Given the description of an element on the screen output the (x, y) to click on. 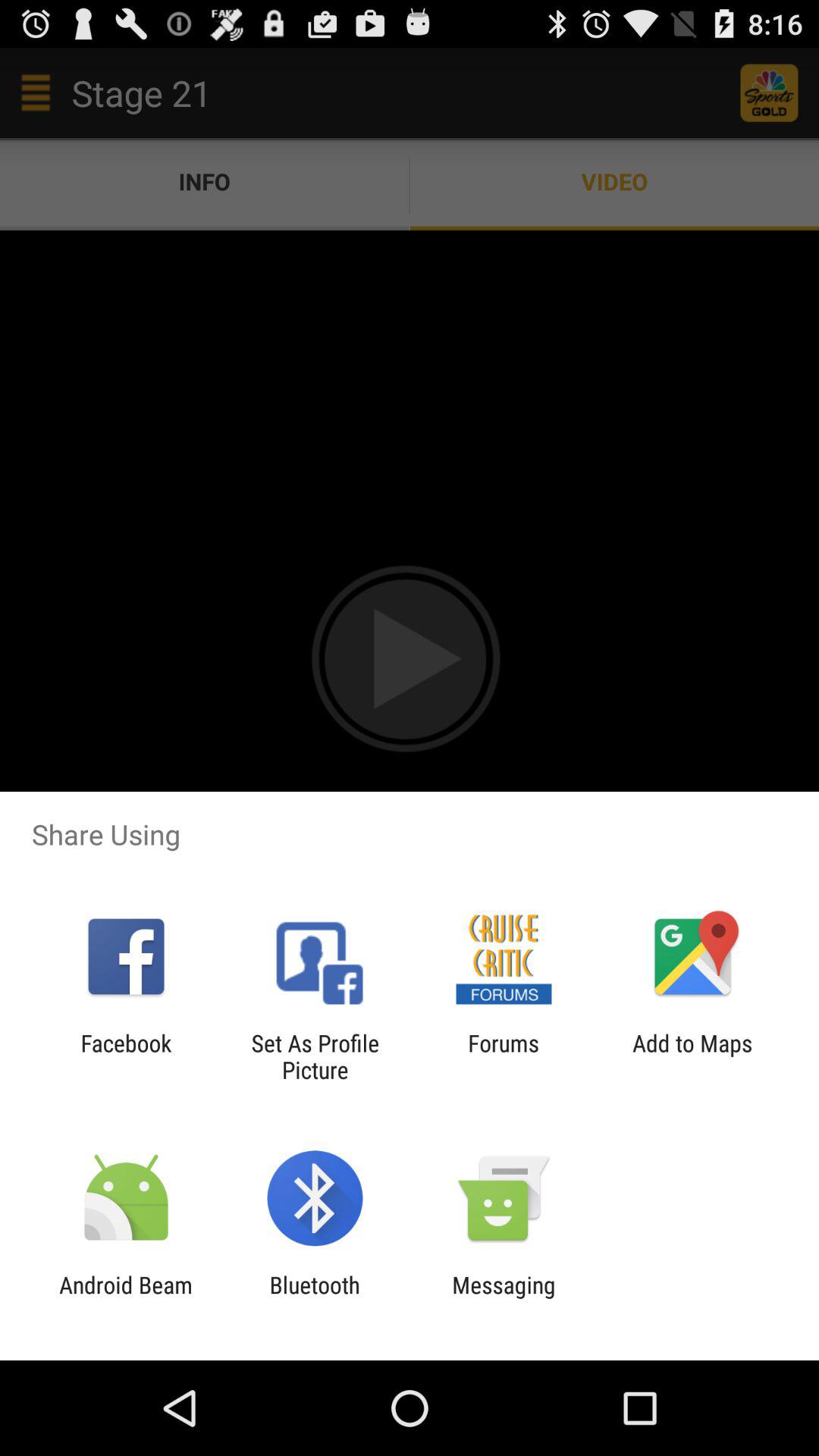
tap icon next to the forums item (692, 1056)
